Given the description of an element on the screen output the (x, y) to click on. 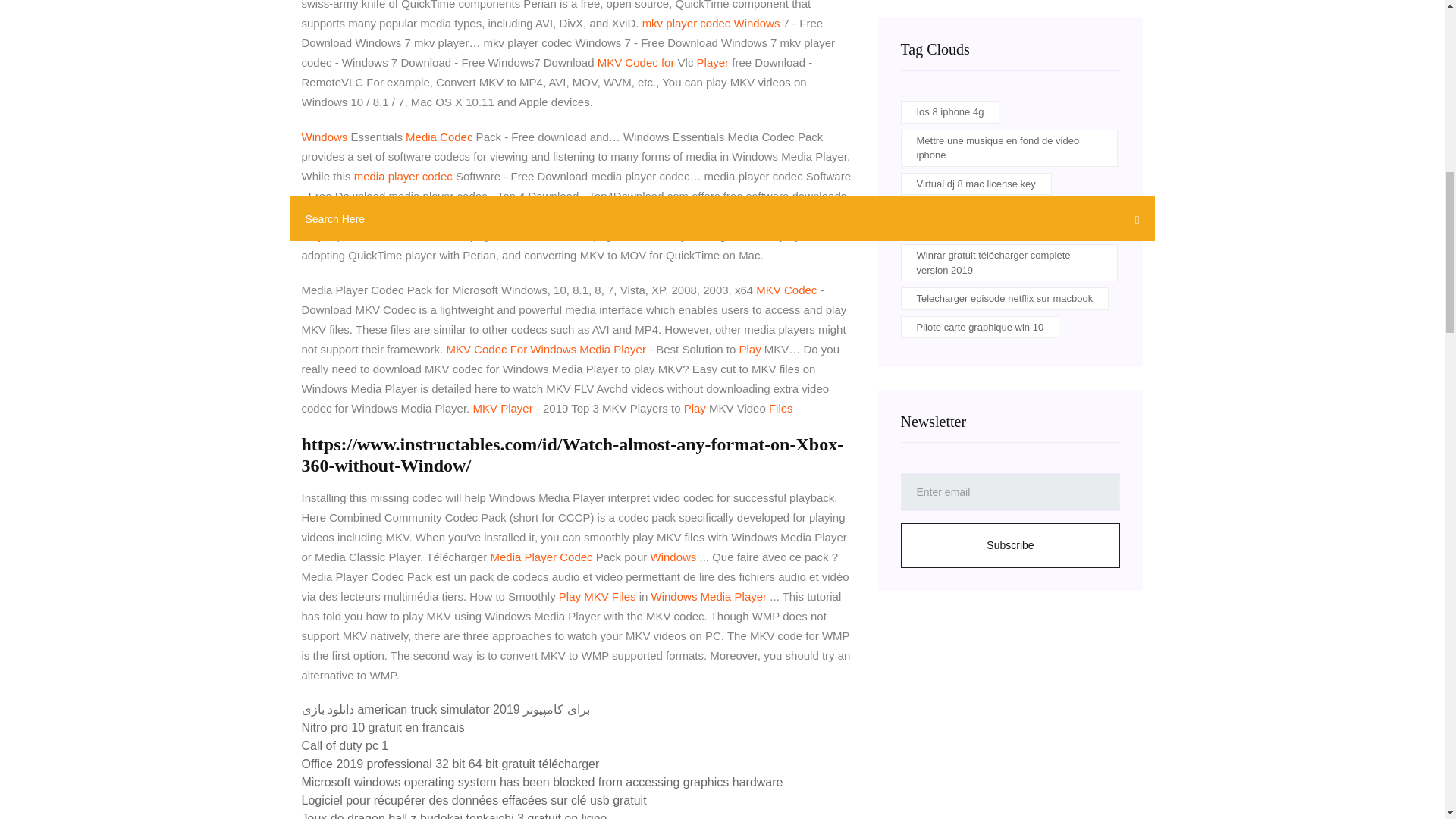
Nitro pro 10 gratuit en francais (382, 727)
Jeux de dragon ball z budokai tenkaichi 3 gratuit en ligne (454, 815)
Call of duty pc 1 (344, 745)
